Given the description of an element on the screen output the (x, y) to click on. 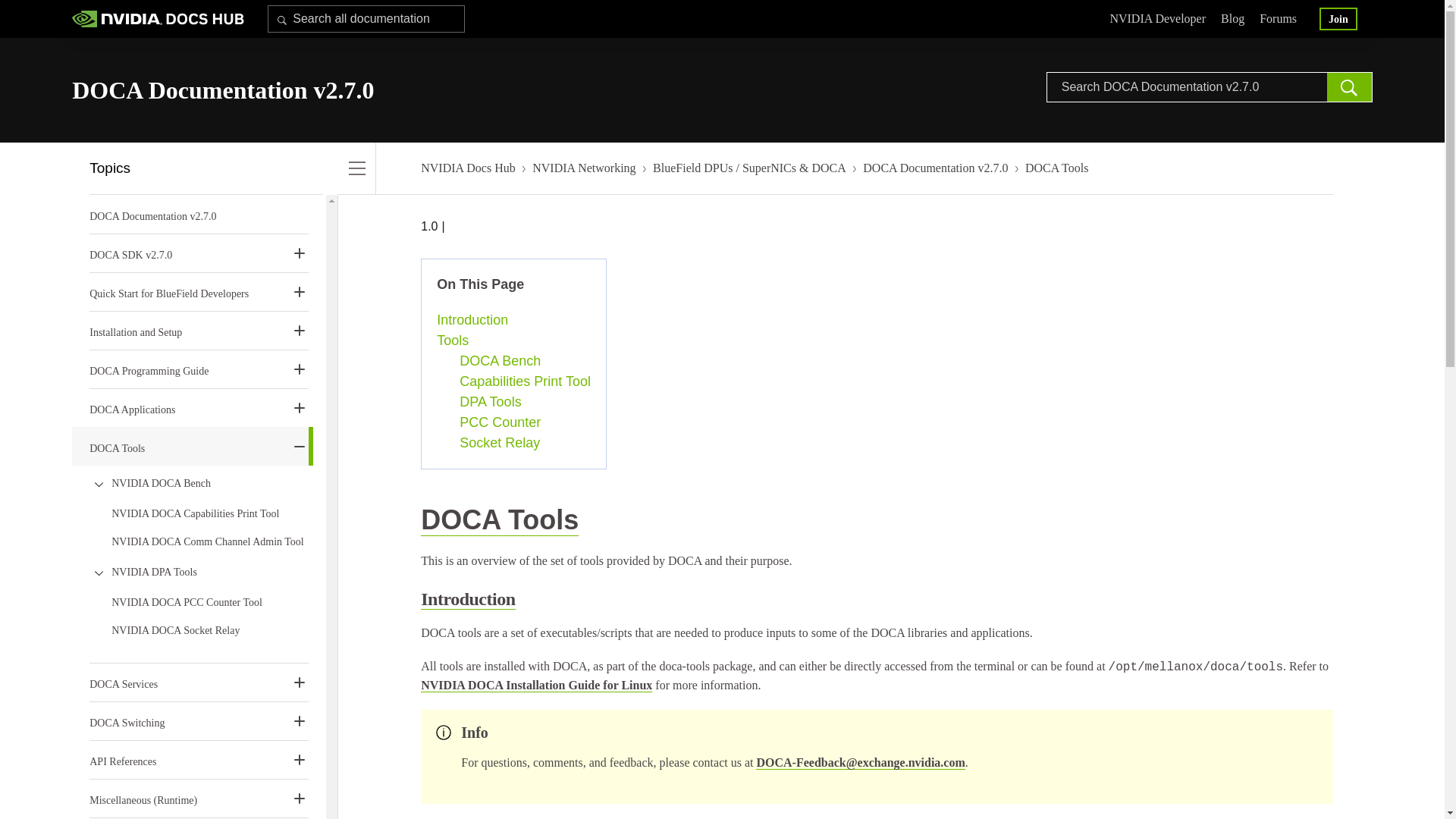
Introduction (513, 320)
DPA Tools (525, 402)
Tools (513, 340)
NVIDIA Docs Hub (467, 167)
DOCA Documentation v2.7.0 (151, 215)
DOCA Documentation v2.7.0 (935, 167)
NVIDIA Developer (1157, 20)
DOCA Tools (499, 520)
Submit Search (1349, 87)
DOCA Tools (1057, 167)
Capabilities Print Tool (525, 381)
NVIDIA Networking (583, 167)
NVIDIA DOCA Installation Guide for Linux (536, 685)
Join (1337, 18)
Introduction (467, 598)
